Given the description of an element on the screen output the (x, y) to click on. 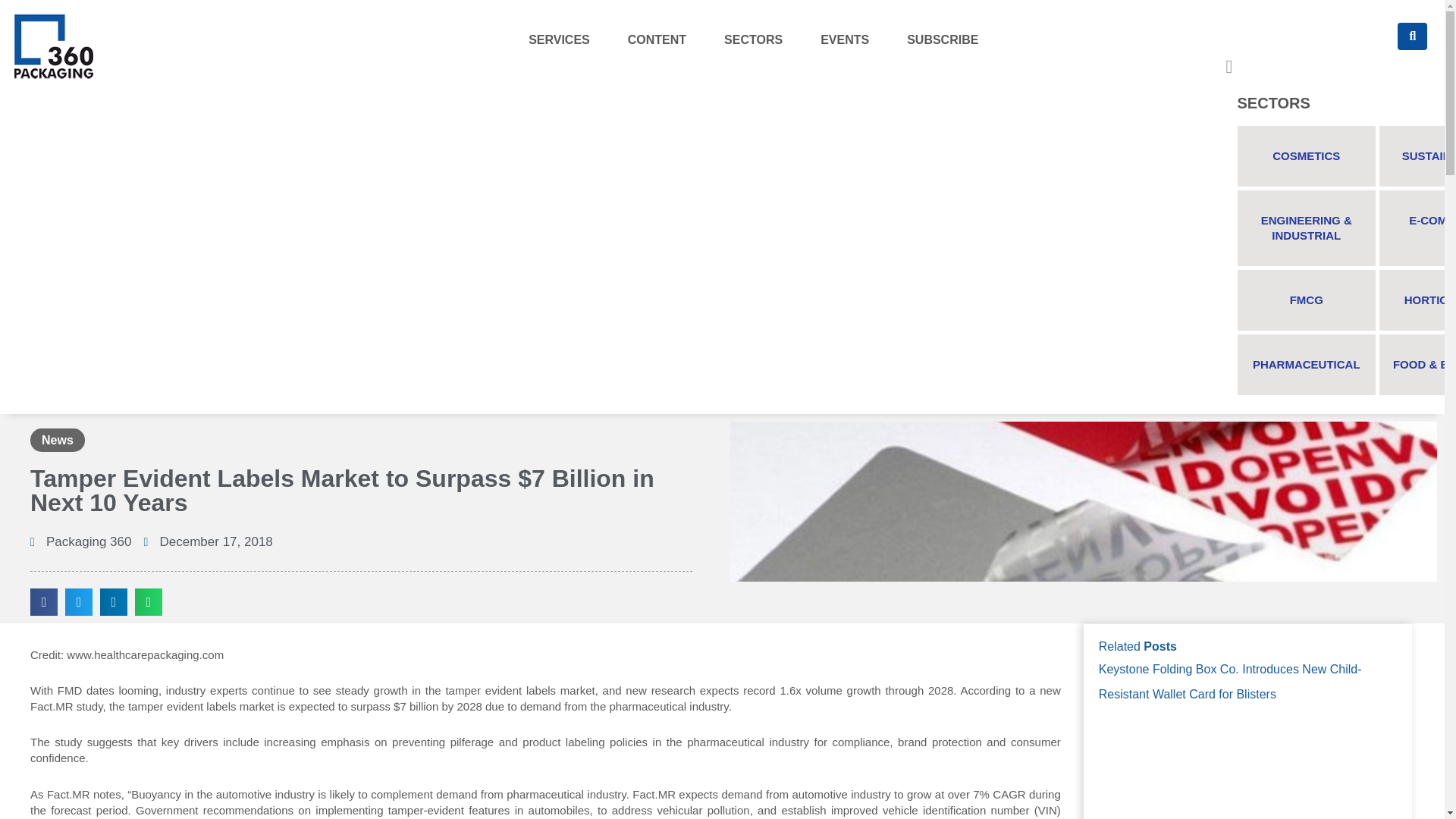
EVENTS (844, 39)
SERVICES (559, 39)
CONTENT (656, 39)
SUBSCRIBE (941, 39)
SECTORS (753, 39)
